Given the description of an element on the screen output the (x, y) to click on. 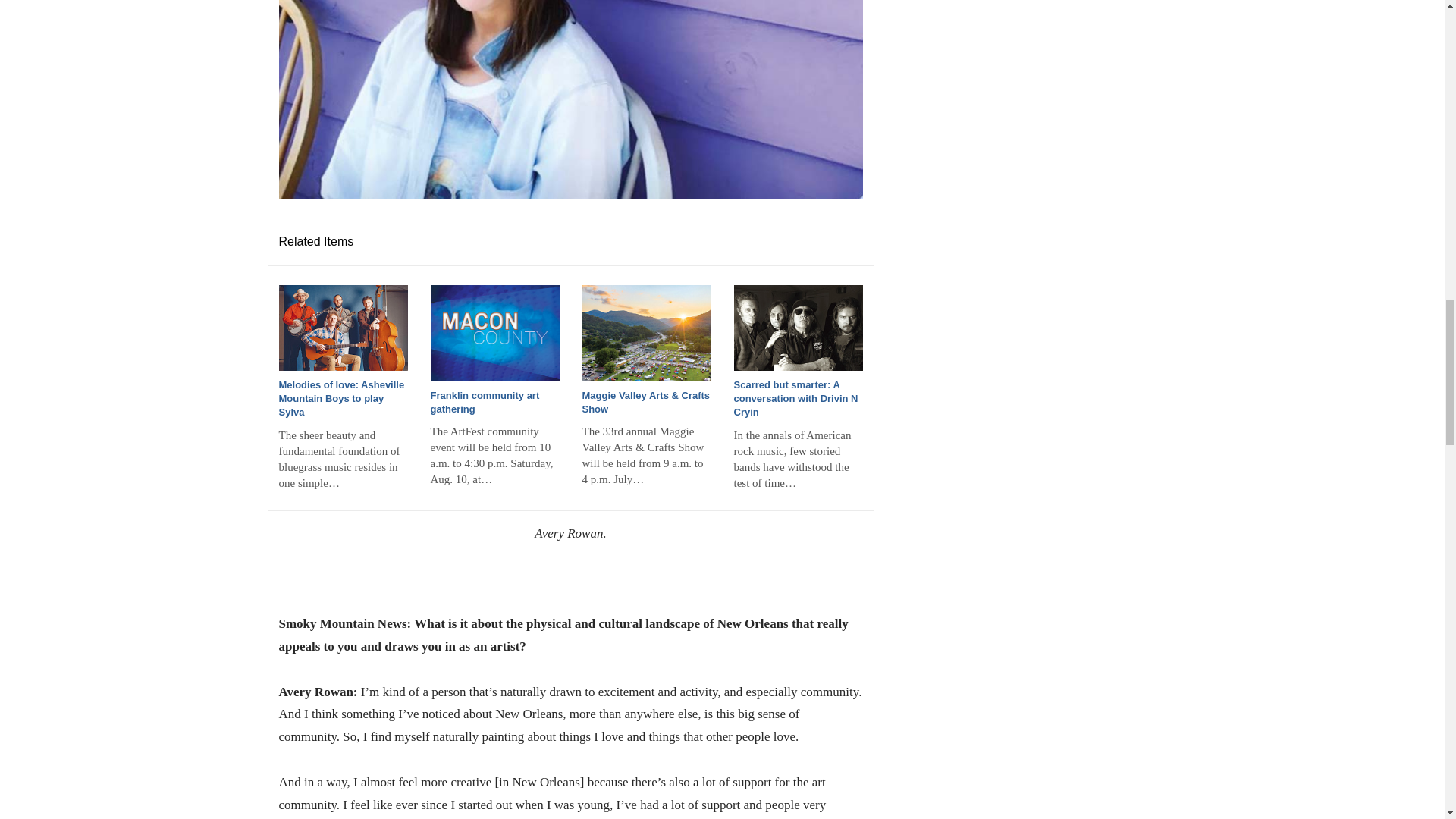
Scarred but smarter: A conversation with Drivin N Cryin (798, 328)
Franklin community art gathering (494, 333)
Melodies of love: Asheville Mountain Boys to play Sylva (343, 328)
